Given the description of an element on the screen output the (x, y) to click on. 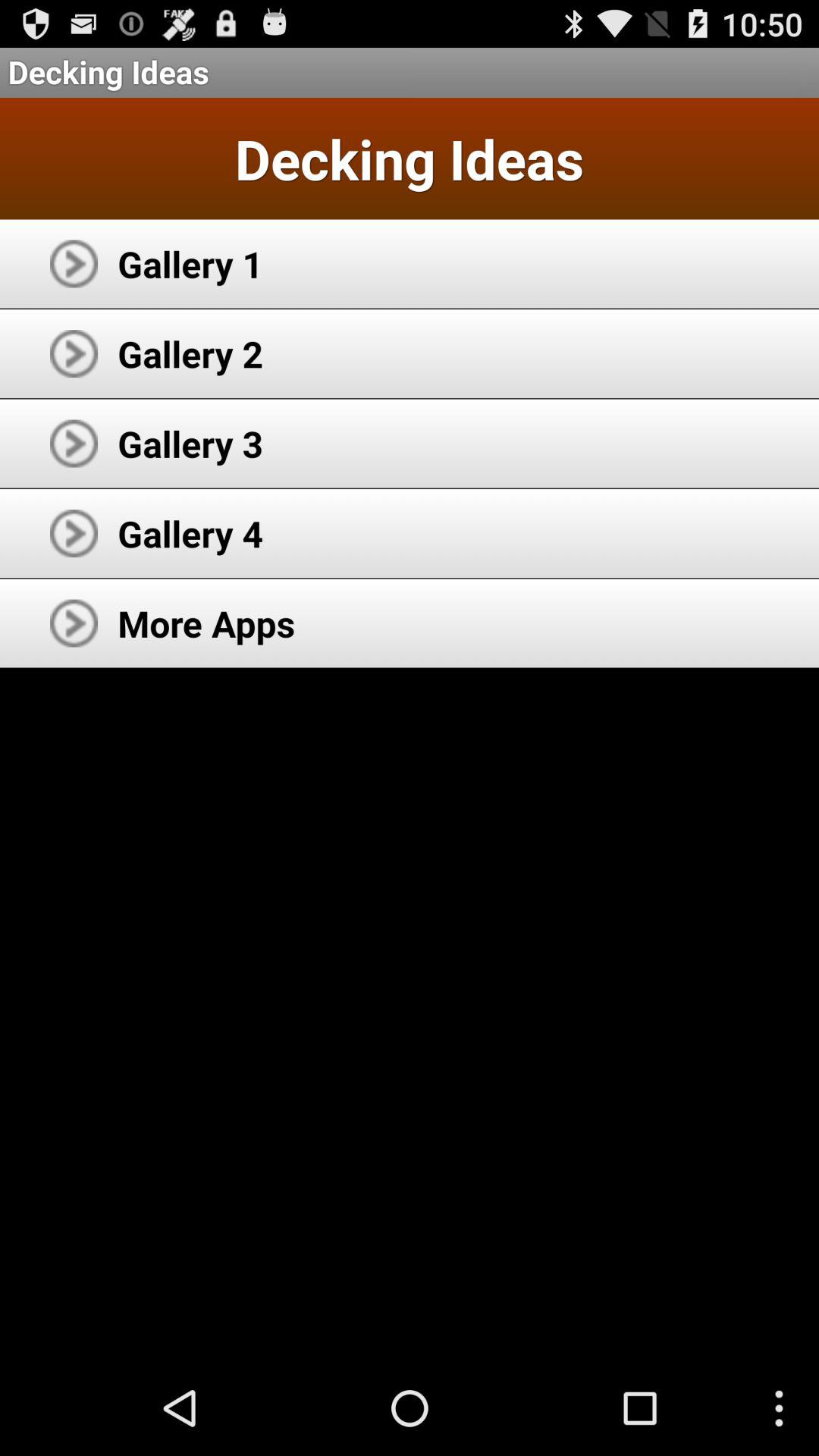
open the item below the decking ideas icon (190, 263)
